Given the description of an element on the screen output the (x, y) to click on. 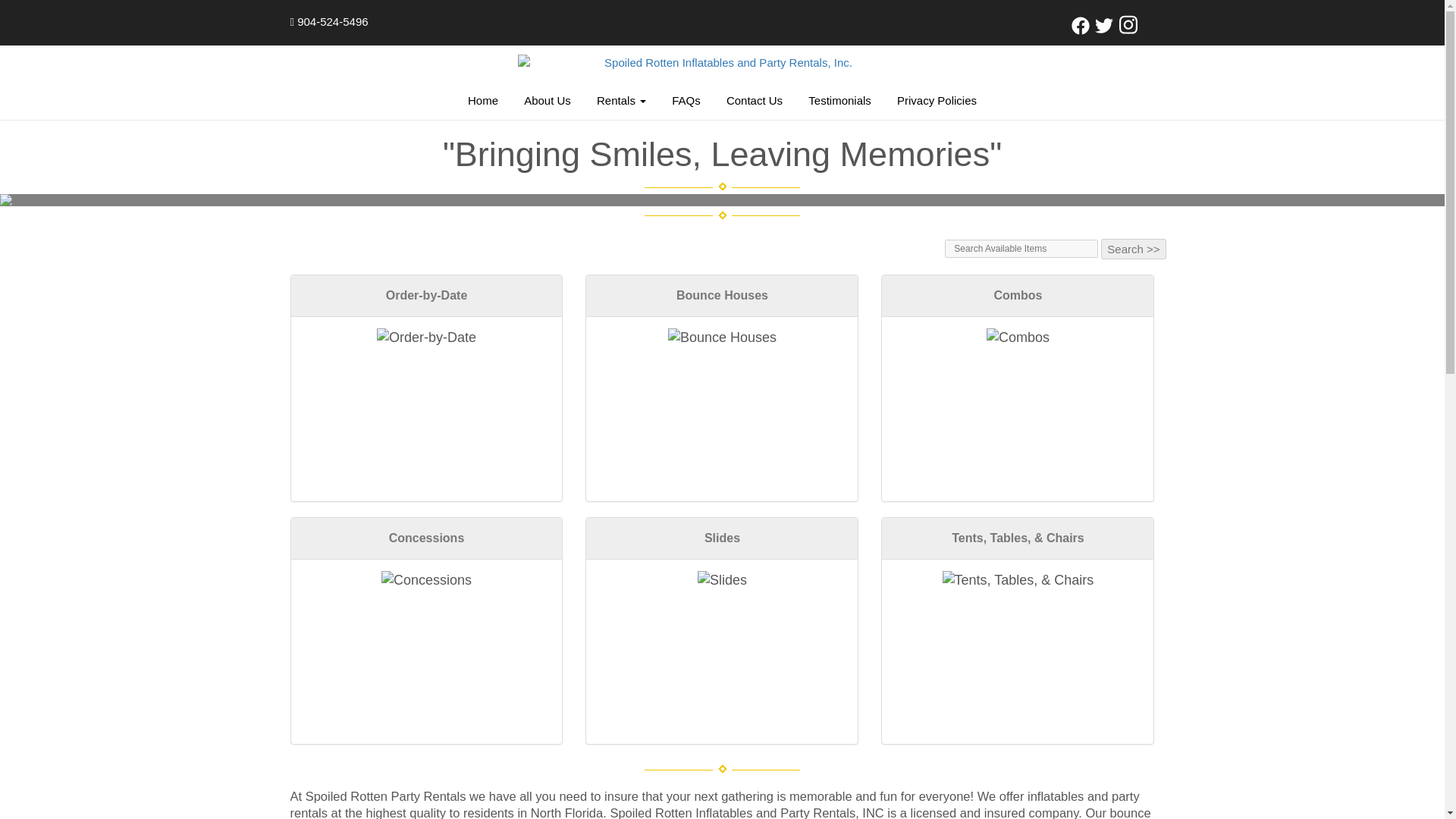
Spoiled Rotten Inflatables and Party Rentals, Inc. Instagram (1128, 30)
Combos (1018, 338)
Spoiled Rotten Inflatables and Party Rentals, Inc. (721, 62)
Home (483, 100)
Previous (108, 200)
Spoiled Rotten Inflatables and Party Rentals, Inc. Twitter (1103, 30)
About Us (547, 100)
Testimonials (839, 100)
Bounce Houses (722, 338)
Spoiled Rotten Inflatables and Party Rentals, Inc. Facebook (1080, 30)
